Given the description of an element on the screen output the (x, y) to click on. 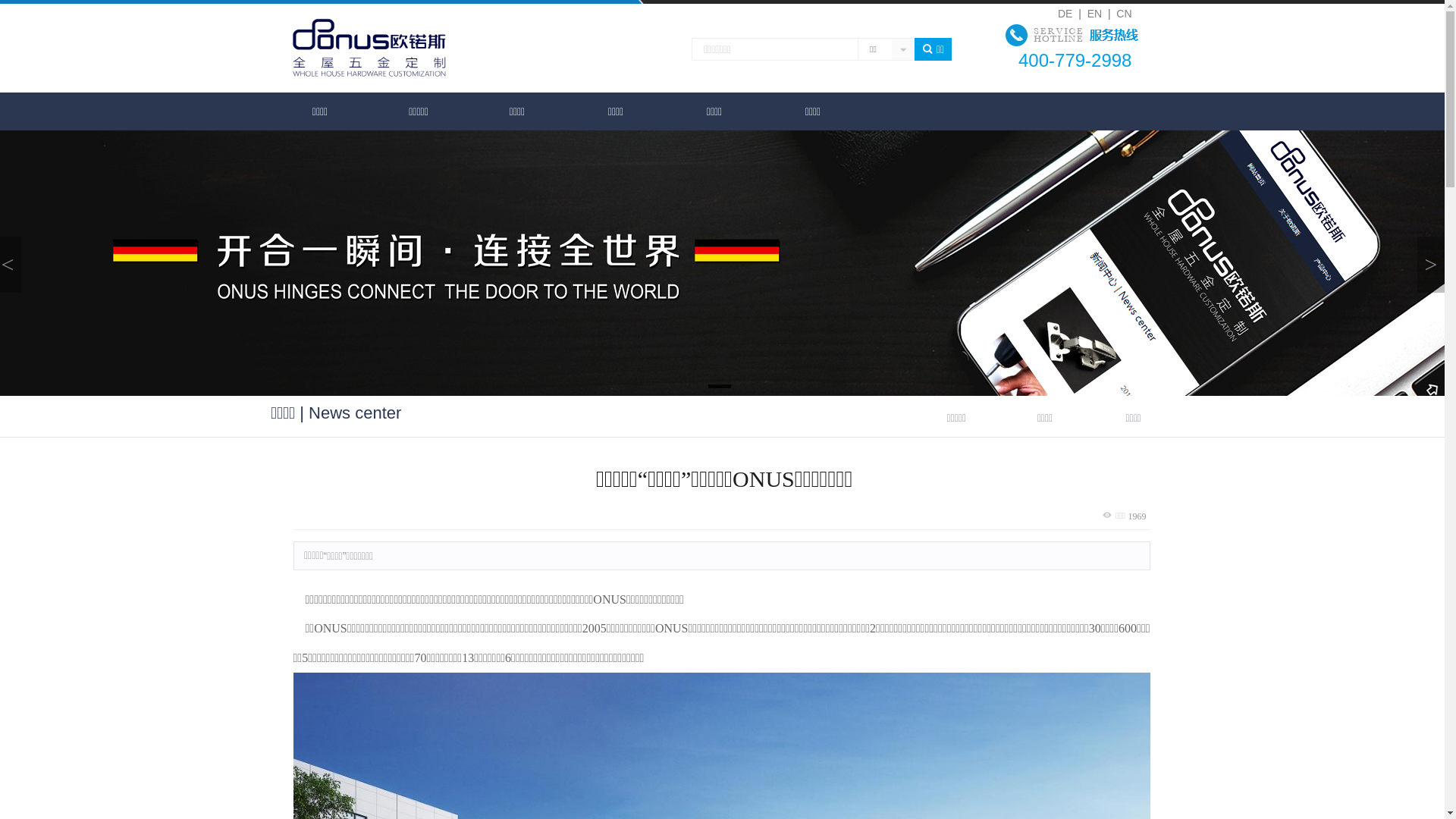
CN Element type: text (1123, 13)
DE  Element type: text (1066, 13)
EN Element type: text (1094, 13)
